Given the description of an element on the screen output the (x, y) to click on. 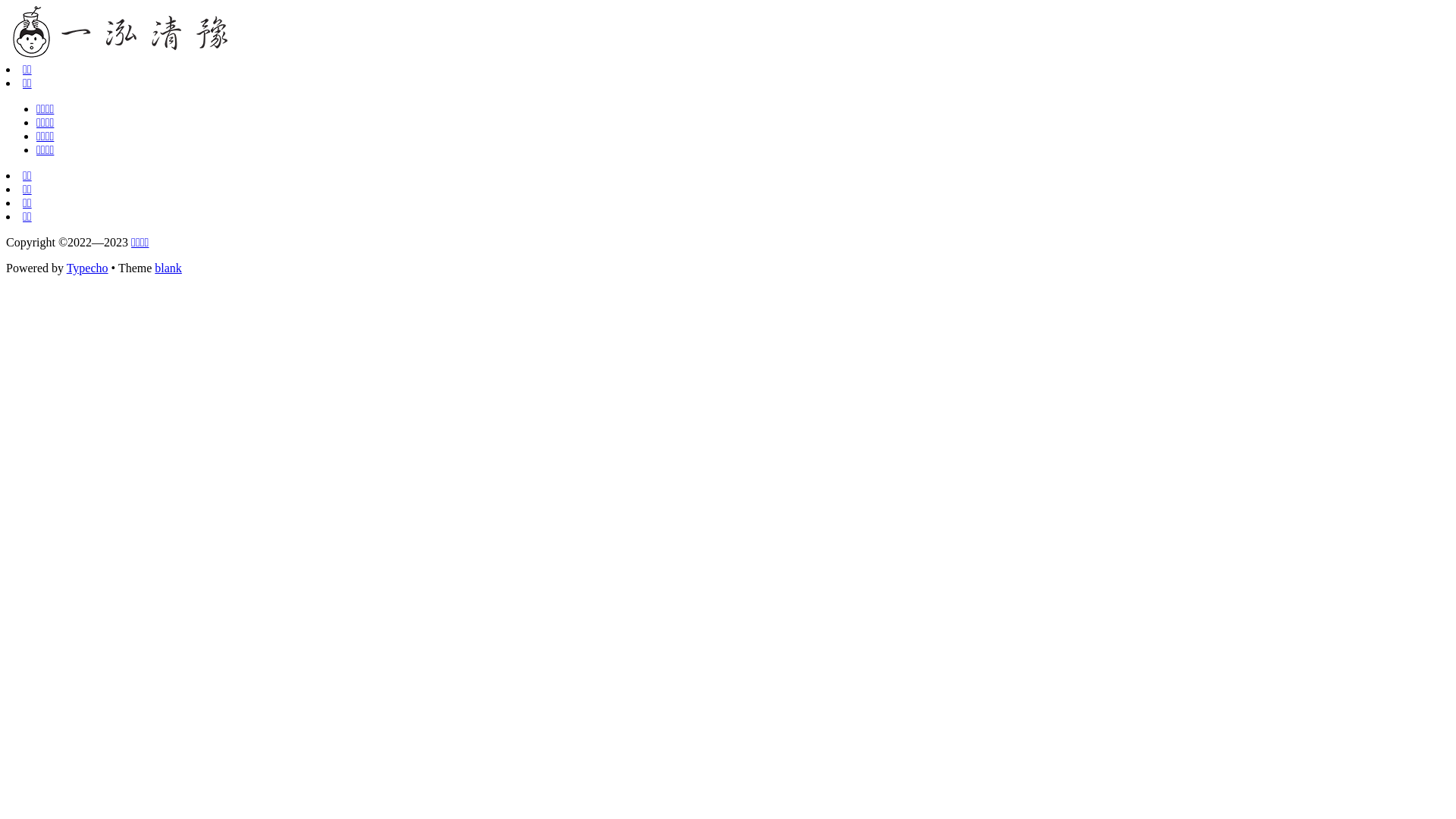
Typecho Element type: text (87, 267)
blank Element type: text (168, 267)
